Given the description of an element on the screen output the (x, y) to click on. 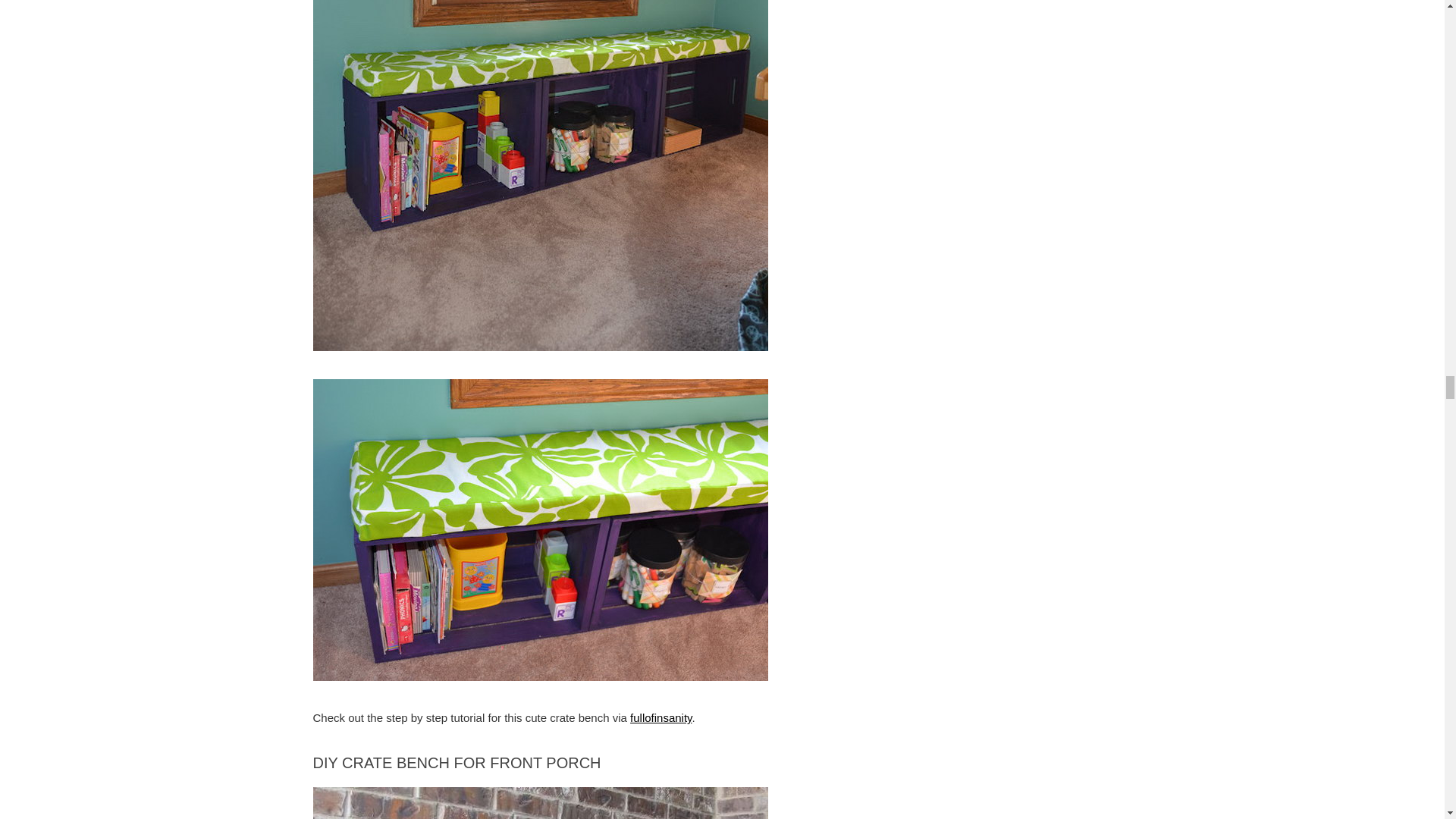
fullofinsanity (660, 717)
